Given the description of an element on the screen output the (x, y) to click on. 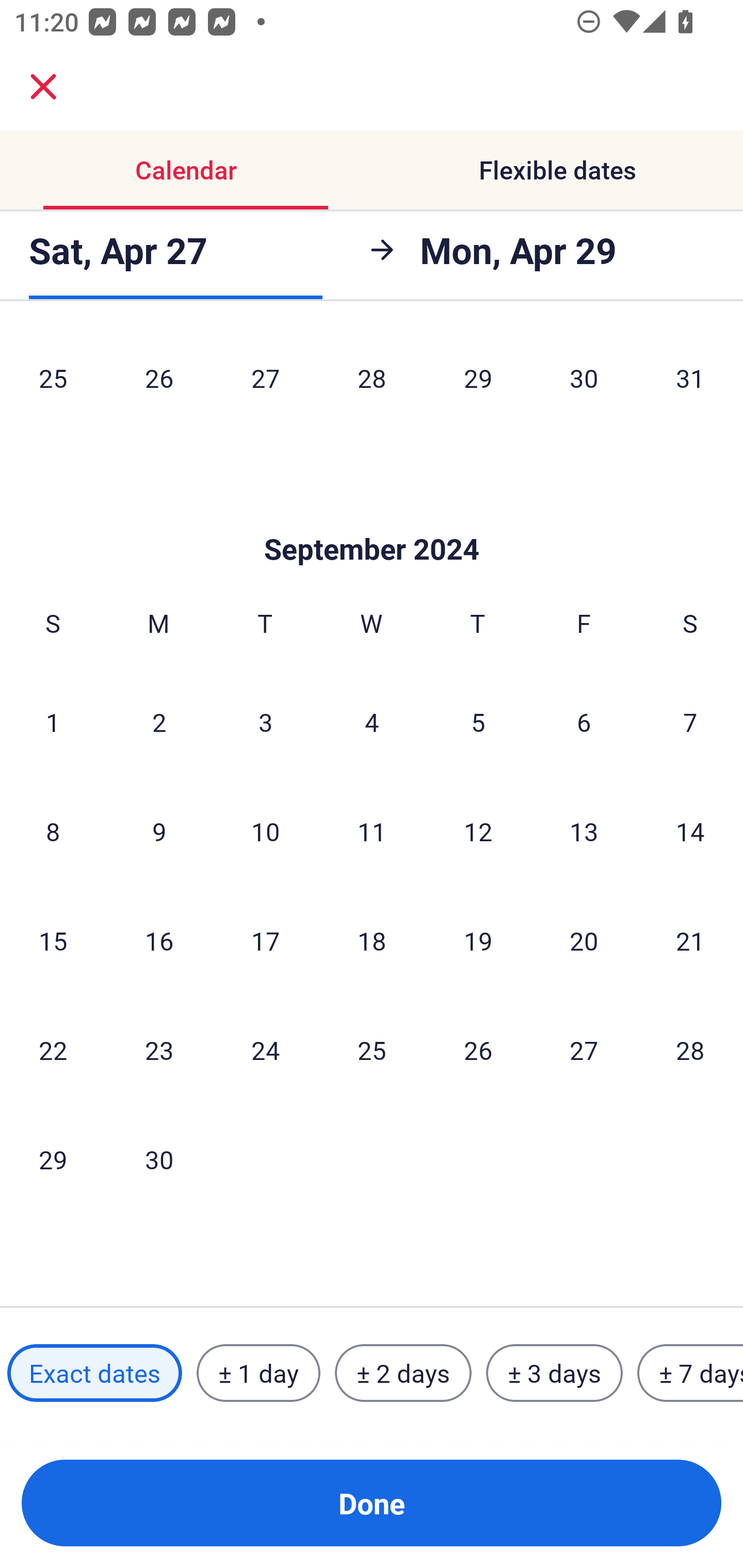
close. (43, 86)
Flexible dates (557, 170)
25 Sunday, August 25, 2024 (53, 380)
26 Monday, August 26, 2024 (159, 380)
27 Tuesday, August 27, 2024 (265, 380)
28 Wednesday, August 28, 2024 (371, 380)
29 Thursday, August 29, 2024 (477, 380)
30 Friday, August 30, 2024 (584, 380)
31 Saturday, August 31, 2024 (690, 380)
Skip to Done (371, 518)
1 Sunday, September 1, 2024 (53, 721)
2 Monday, September 2, 2024 (159, 721)
3 Tuesday, September 3, 2024 (265, 721)
4 Wednesday, September 4, 2024 (371, 721)
5 Thursday, September 5, 2024 (477, 721)
6 Friday, September 6, 2024 (584, 721)
7 Saturday, September 7, 2024 (690, 721)
8 Sunday, September 8, 2024 (53, 830)
9 Monday, September 9, 2024 (159, 830)
10 Tuesday, September 10, 2024 (265, 830)
